Given the description of an element on the screen output the (x, y) to click on. 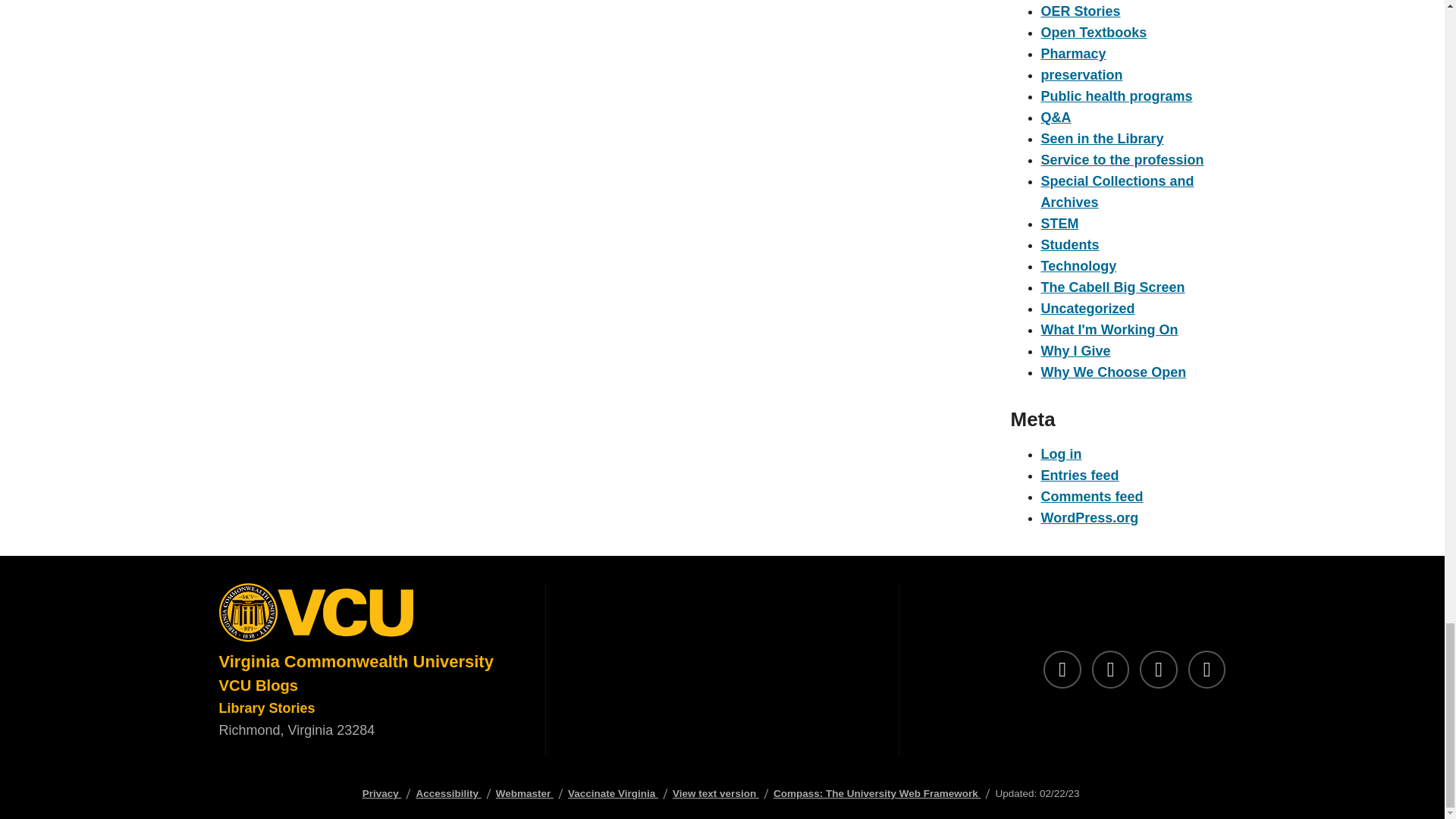
Contact the VCU webmaster (524, 793)
VCU Blogs (258, 685)
Virginia Commonwealth University seal (368, 616)
Virginia Commonwealth University (355, 660)
Compass: The University Web Framework (877, 793)
VCU privacy statement (381, 793)
Accessibility at VCU (447, 793)
Vaccinate Virginia (612, 793)
Library Stories (266, 708)
